Given the description of an element on the screen output the (x, y) to click on. 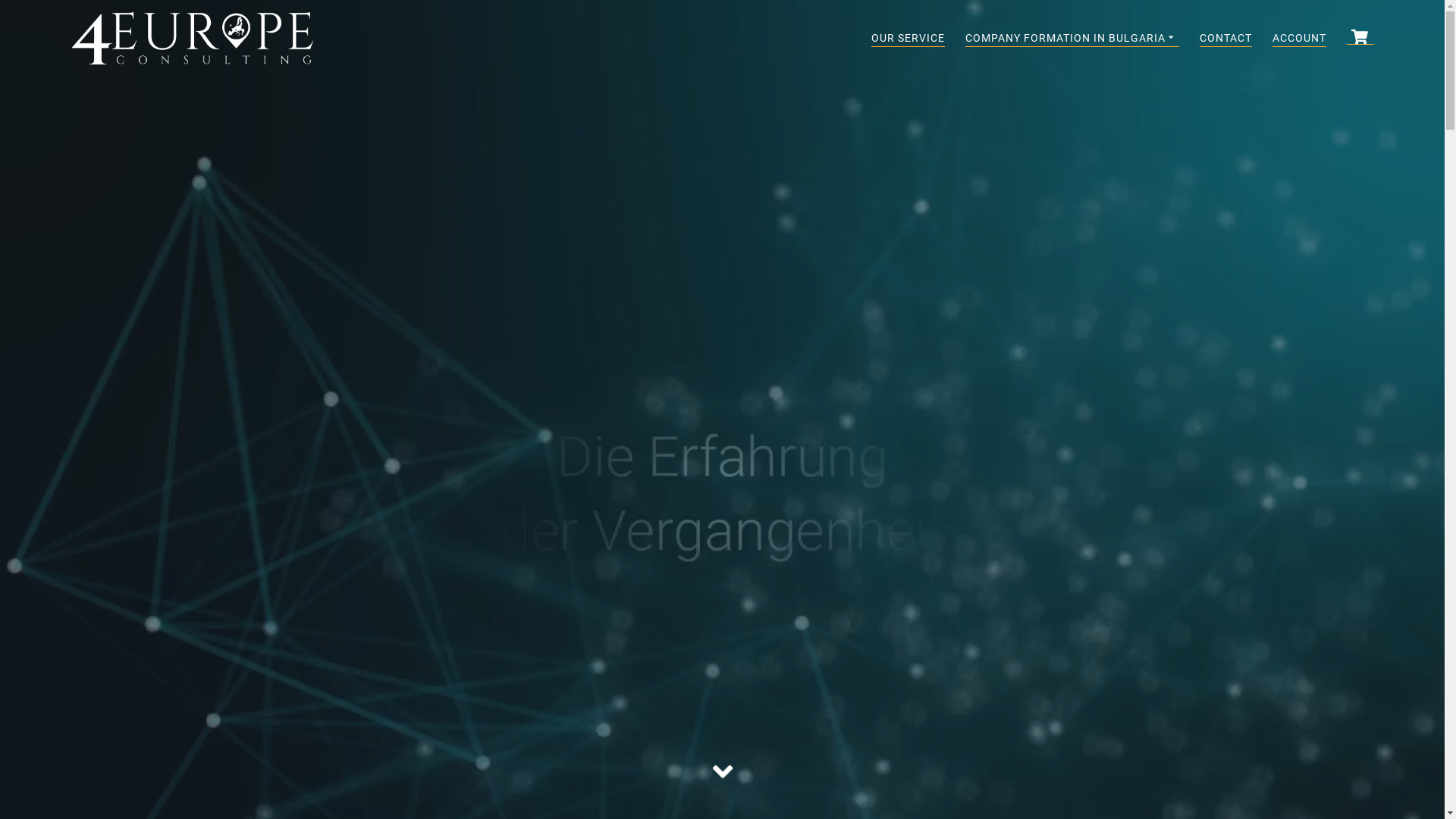
COMPANY FORMATION IN BULGARIA Element type: text (1072, 38)
ACCOUNT Element type: text (1299, 38)
CONTACT Element type: text (1225, 38)
OUR SERVICE Element type: text (907, 38)
